Given the description of an element on the screen output the (x, y) to click on. 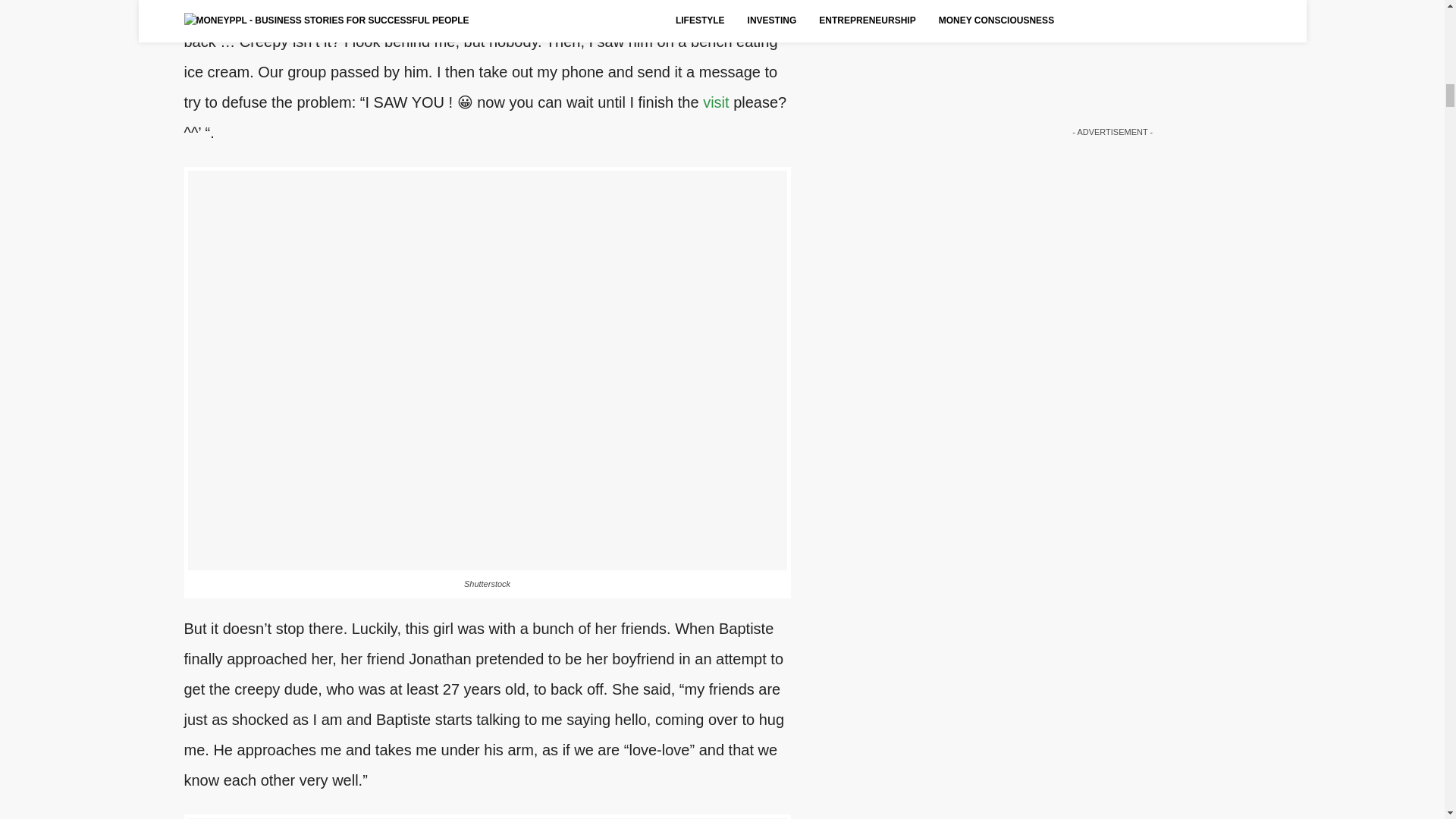
visit (716, 102)
